Given the description of an element on the screen output the (x, y) to click on. 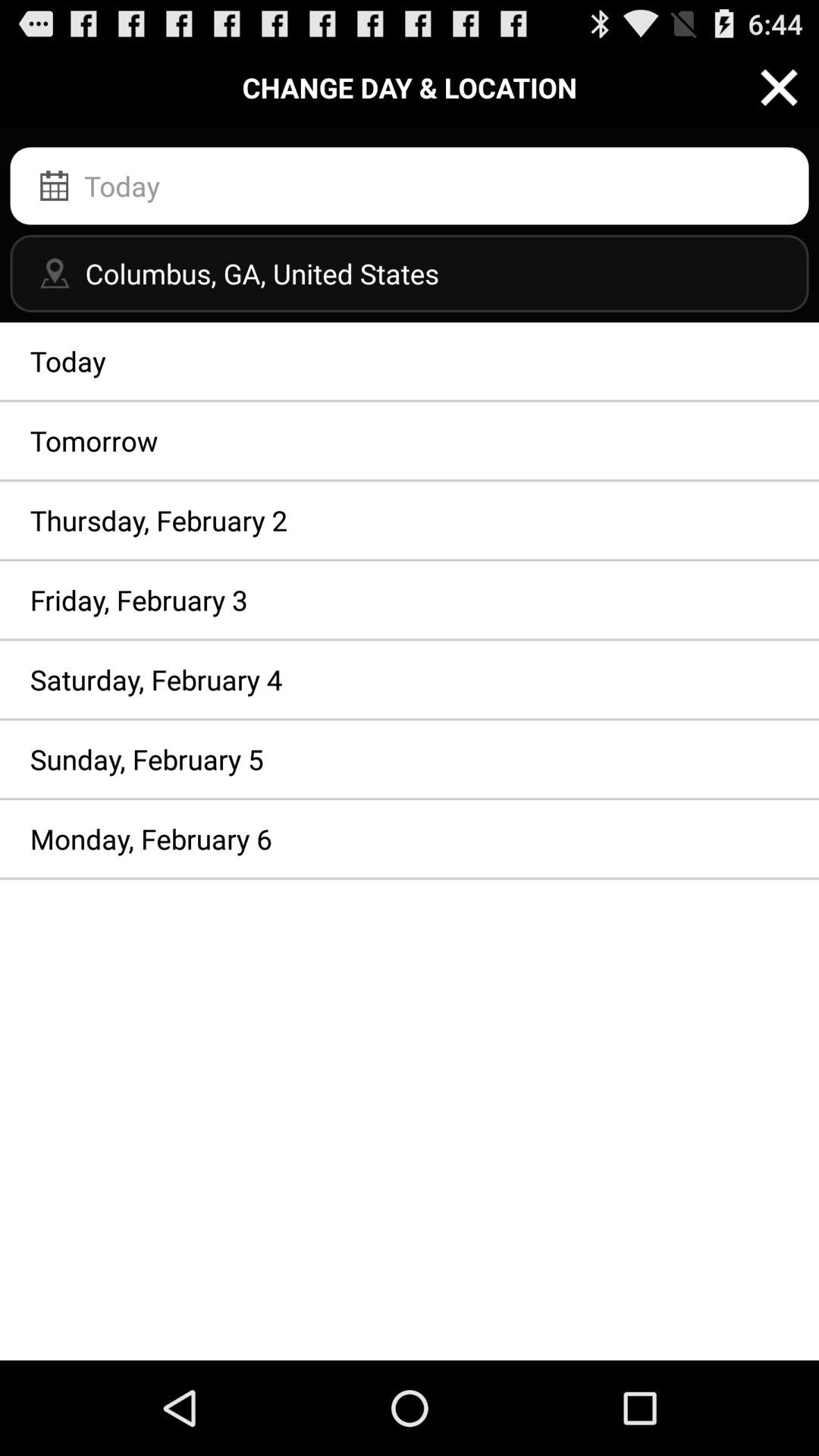
choose the app above the tomorrow (409, 360)
